Given the description of an element on the screen output the (x, y) to click on. 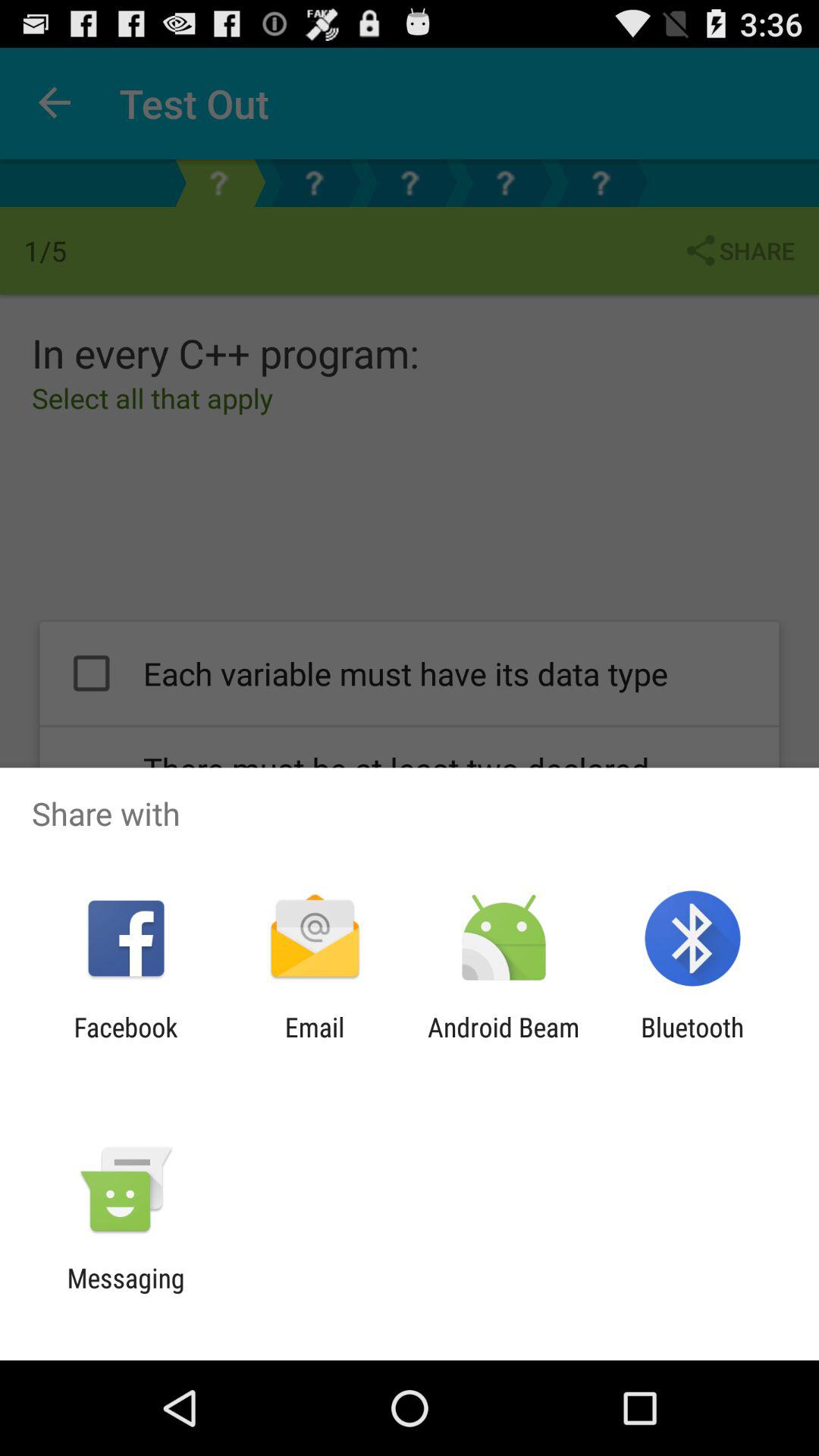
launch the app to the right of the facebook icon (314, 1042)
